Given the description of an element on the screen output the (x, y) to click on. 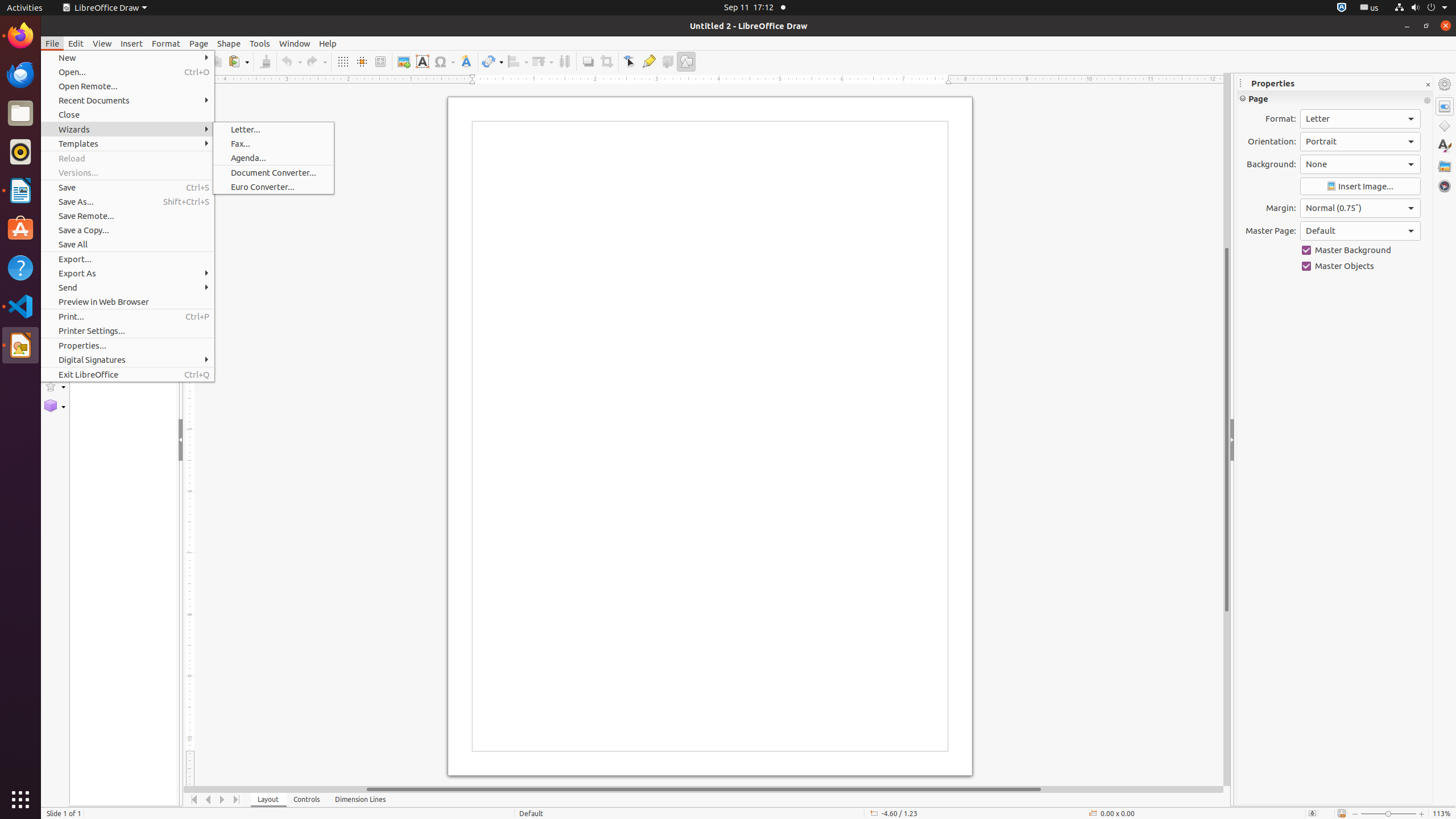
New Element type: menu (127, 57)
Paste Element type: push-button (237, 61)
Preview in Web Browser Element type: menu-item (127, 301)
Text Box Element type: push-button (421, 61)
Shadow Element type: toggle-button (587, 61)
